Given the description of an element on the screen output the (x, y) to click on. 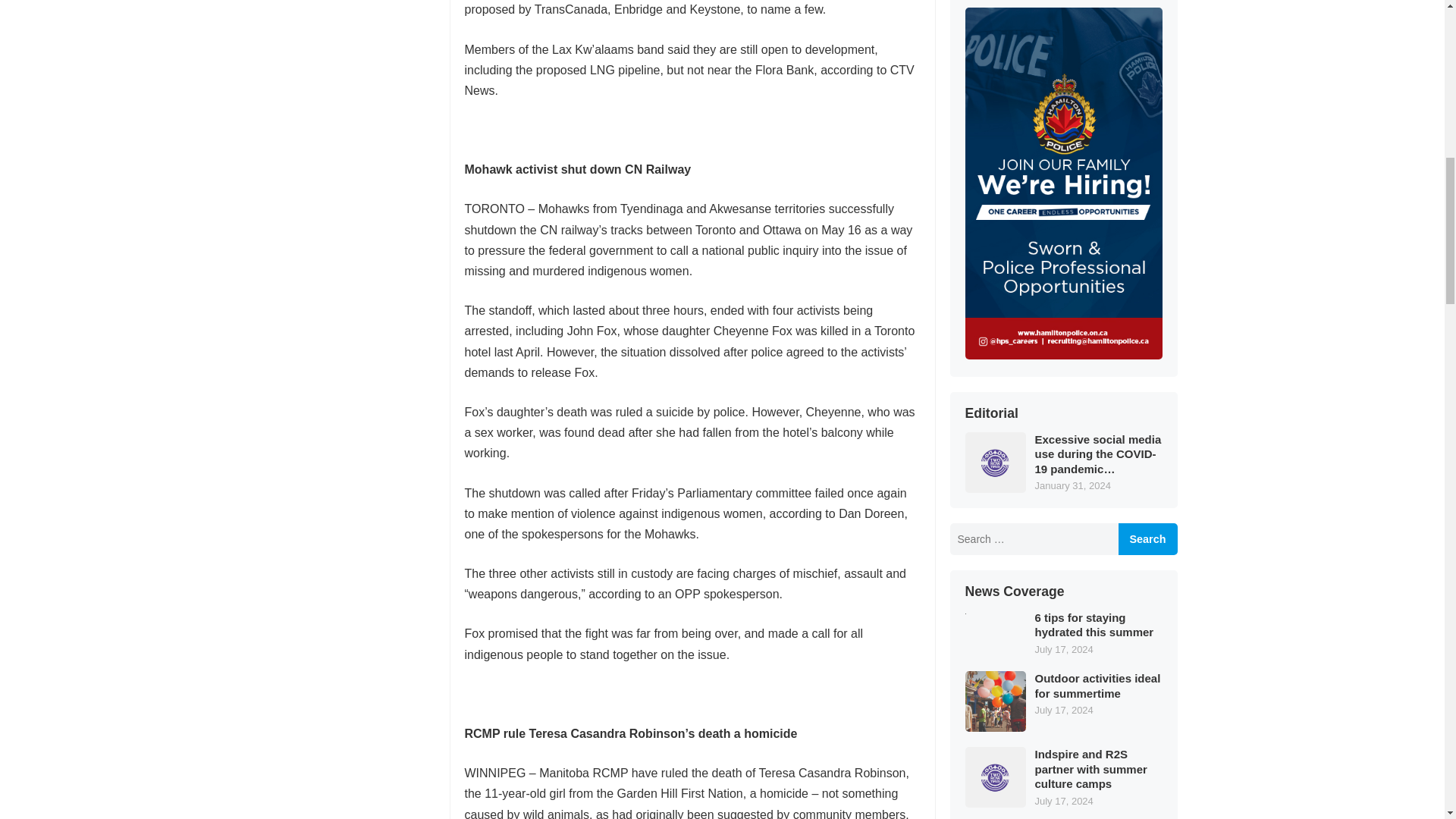
Search (1147, 539)
Search (1147, 539)
